Given the description of an element on the screen output the (x, y) to click on. 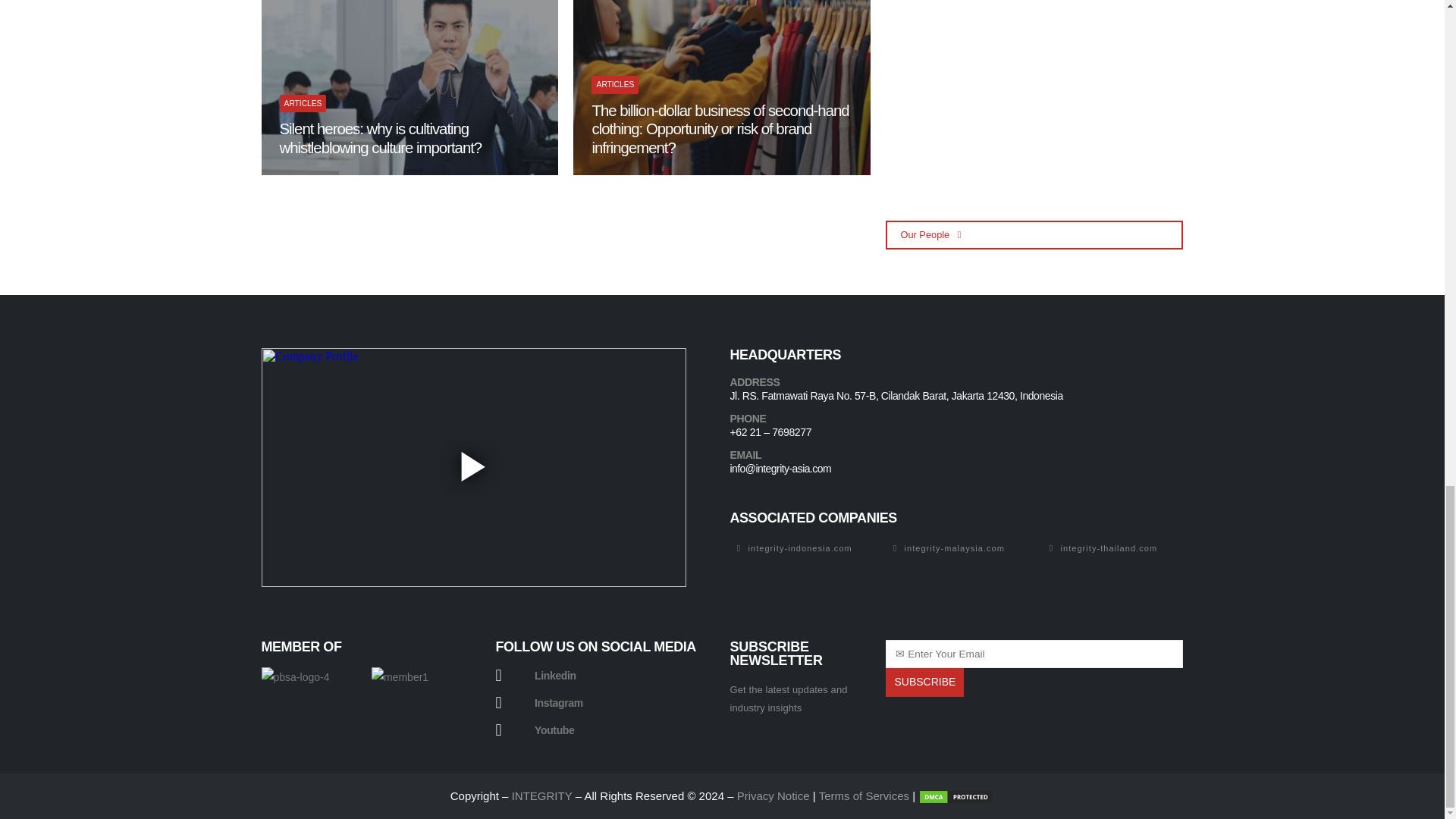
SUBSCRIBE (924, 682)
pbsa-logo-4 (294, 701)
Our People (1033, 234)
Content Protection by DMCA.com (956, 795)
Integrity Indonesia - Company Profile (472, 467)
member1 (399, 695)
